Given the description of an element on the screen output the (x, y) to click on. 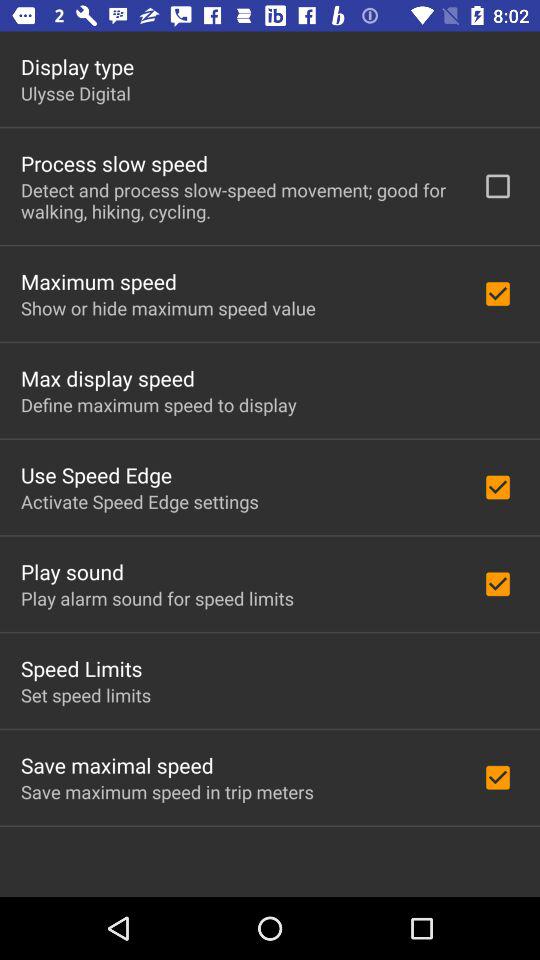
click the save maximal speed (117, 765)
